Given the description of an element on the screen output the (x, y) to click on. 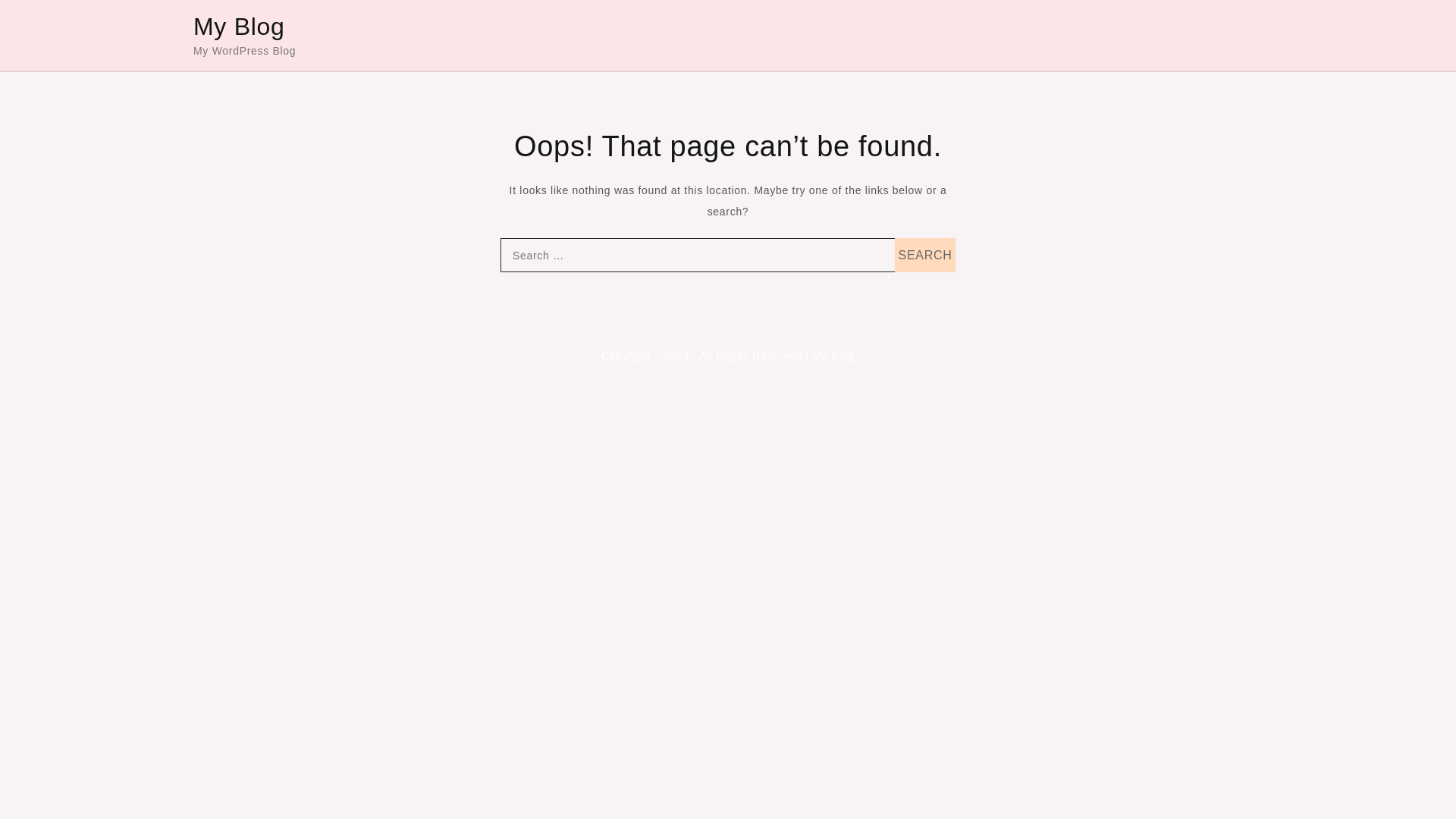
My Blog (239, 26)
Search (925, 254)
Search (925, 254)
Search (925, 254)
